Given the description of an element on the screen output the (x, y) to click on. 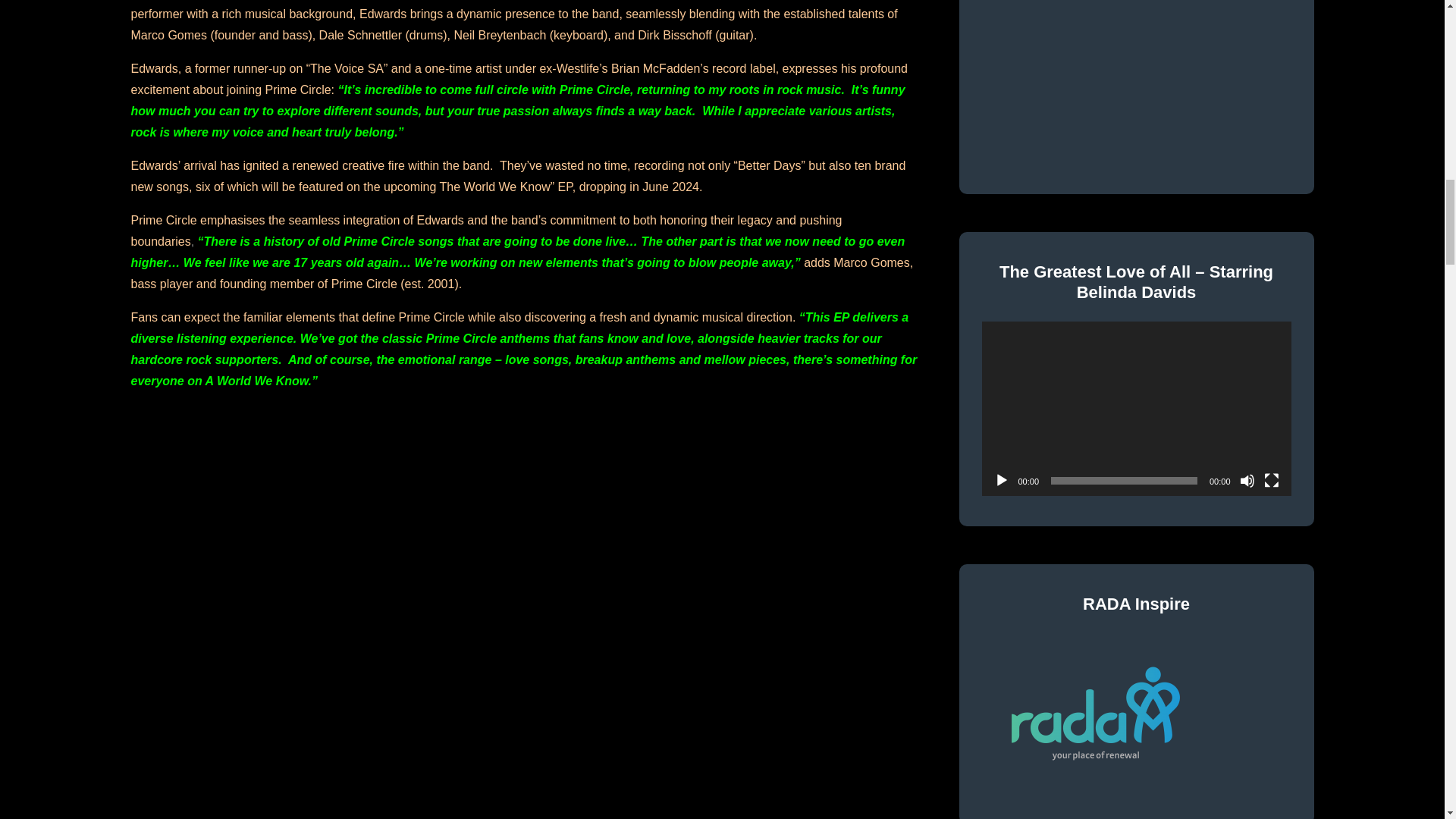
Play (1000, 480)
Fullscreen (1270, 480)
Mute (1246, 480)
